Given the description of an element on the screen output the (x, y) to click on. 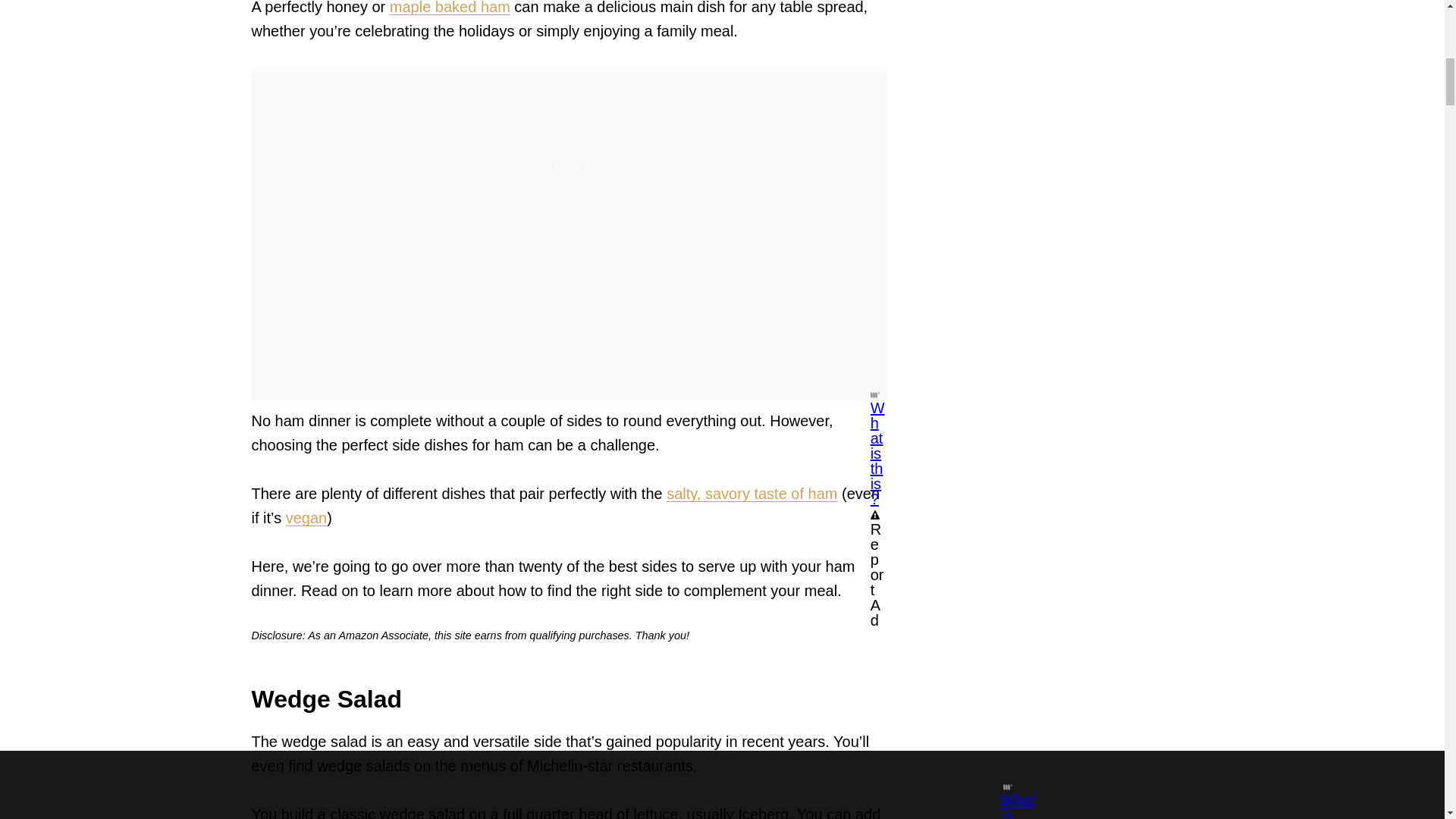
3rd party ad content (568, 162)
